Given the description of an element on the screen output the (x, y) to click on. 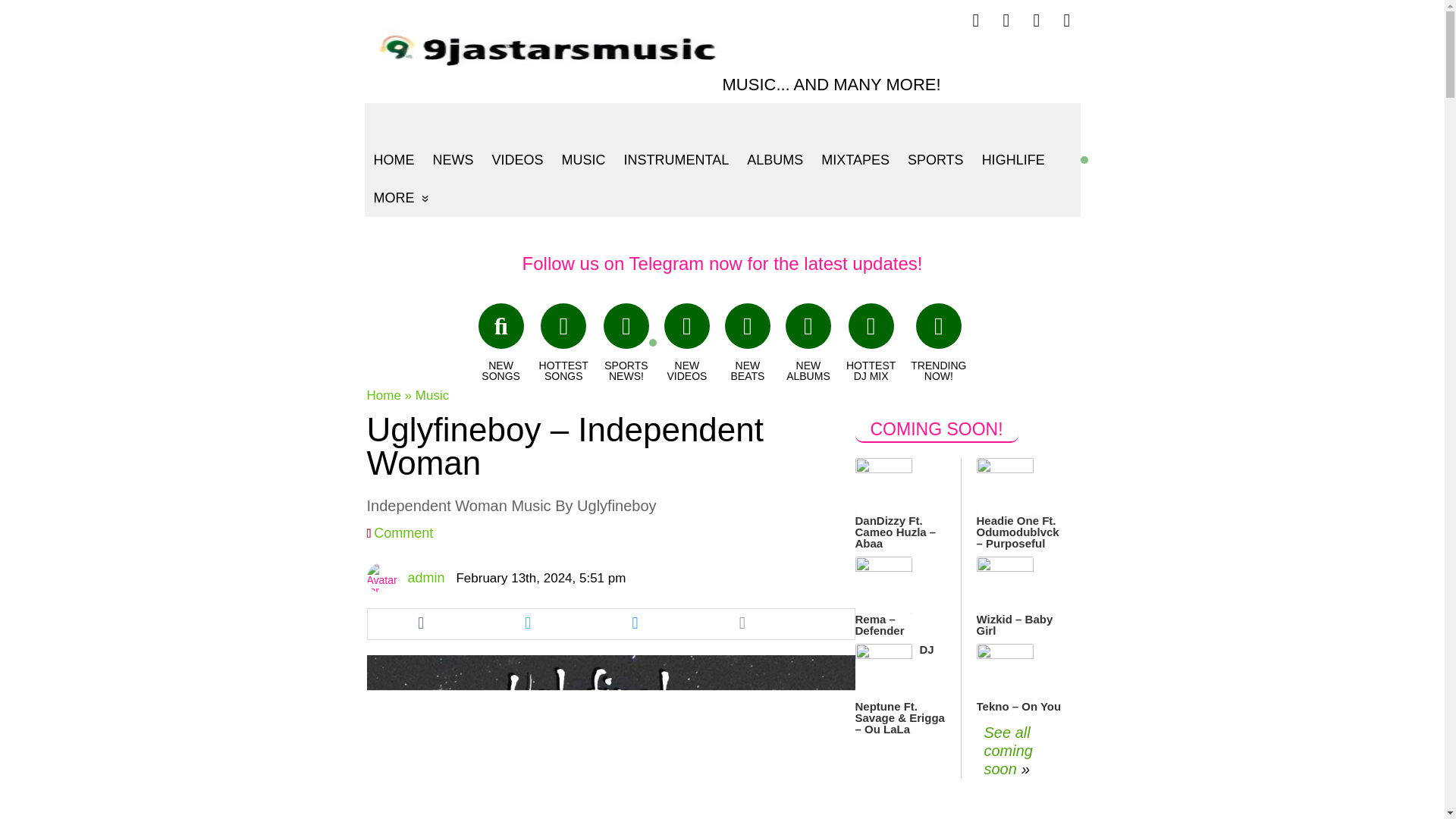
NEWS (452, 159)
MIXTAPES (855, 159)
VIDEOS (516, 159)
MORE (401, 198)
Follow Naijabunch.com on Twitter (1006, 20)
HOME (393, 159)
Home (383, 395)
Follow Naijabunch.com on Facebook (976, 20)
Posts by admin (425, 577)
MUSIC (583, 159)
ALBUMS (775, 159)
HIGHLIFE (1013, 159)
Follow Naijabunch.com Instagram (1067, 20)
INSTRUMENTAL (676, 159)
Follow us on Telegram now for the latest updates! (722, 263)
